Given the description of an element on the screen output the (x, y) to click on. 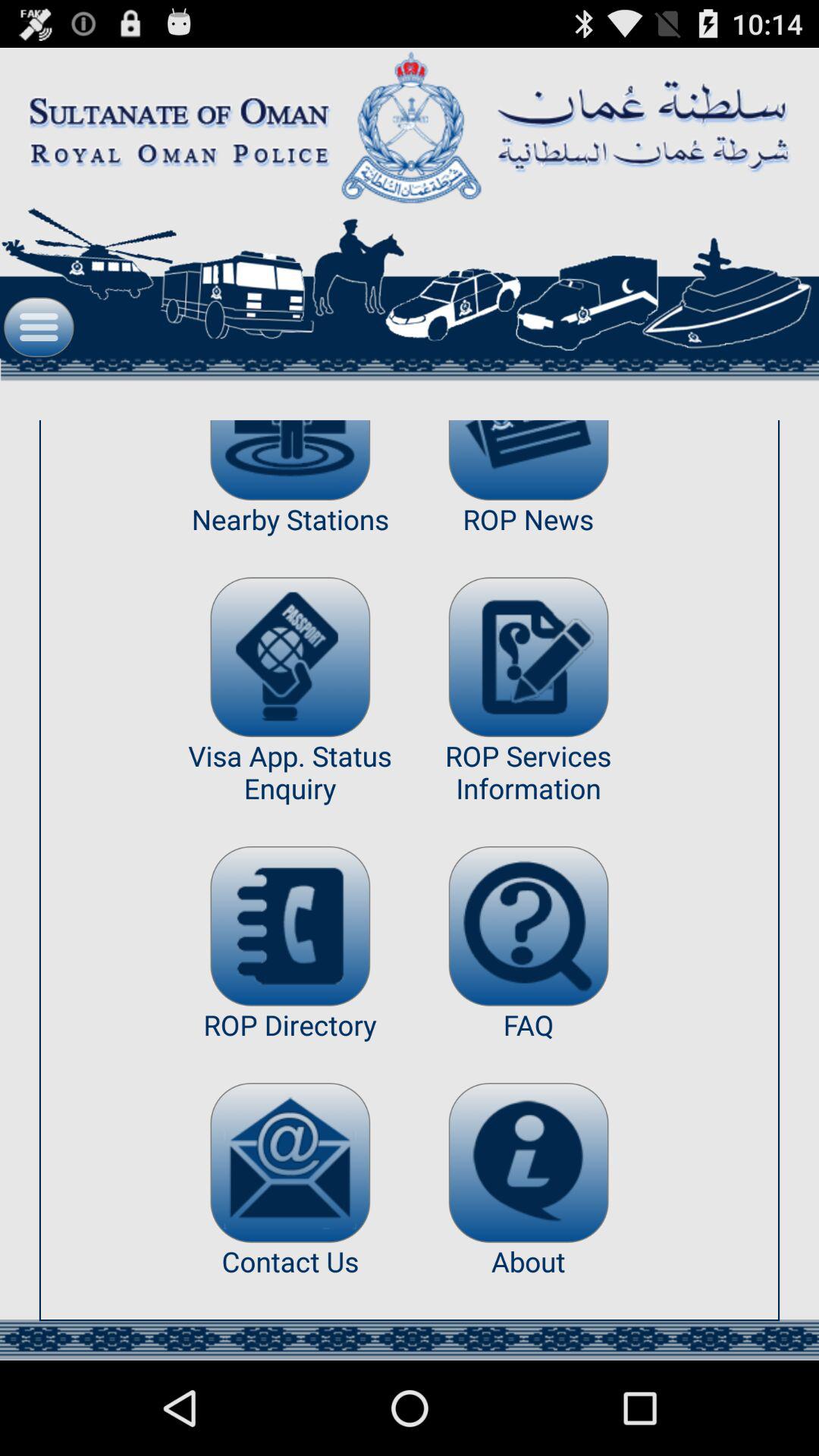
open the item above the rop services information app (528, 657)
